Given the description of an element on the screen output the (x, y) to click on. 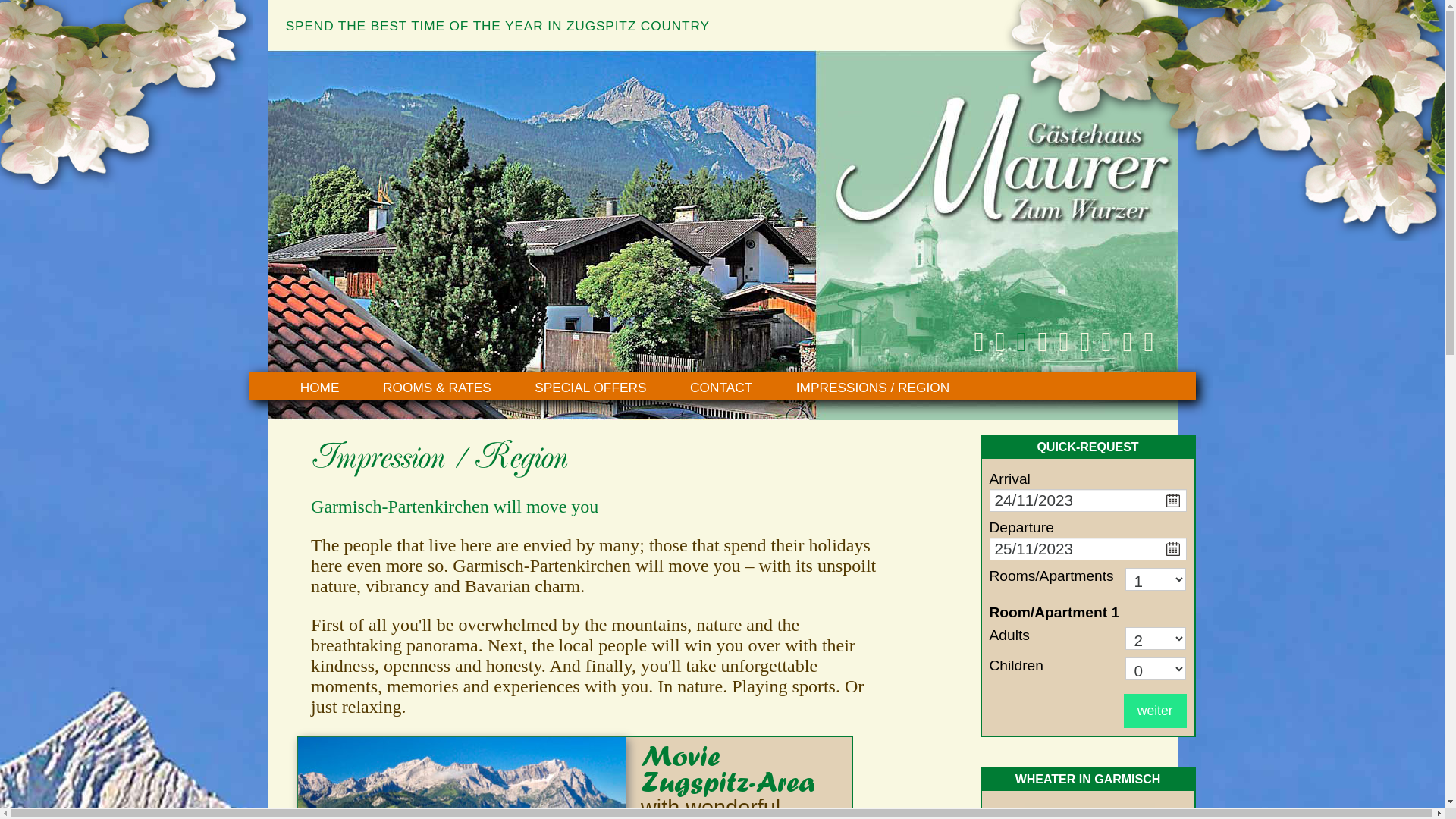
CONTACT Element type: text (721, 387)
ROOMS & RATES Element type: text (436, 387)
weiter Element type: text (1154, 710)
HOME Element type: text (319, 387)
SPECIAL OFFERS Element type: text (590, 387)
IMPRESSIONS / REGION Element type: text (872, 387)
Guest house Maurer Element type: hover (1219, 120)
